Given the description of an element on the screen output the (x, y) to click on. 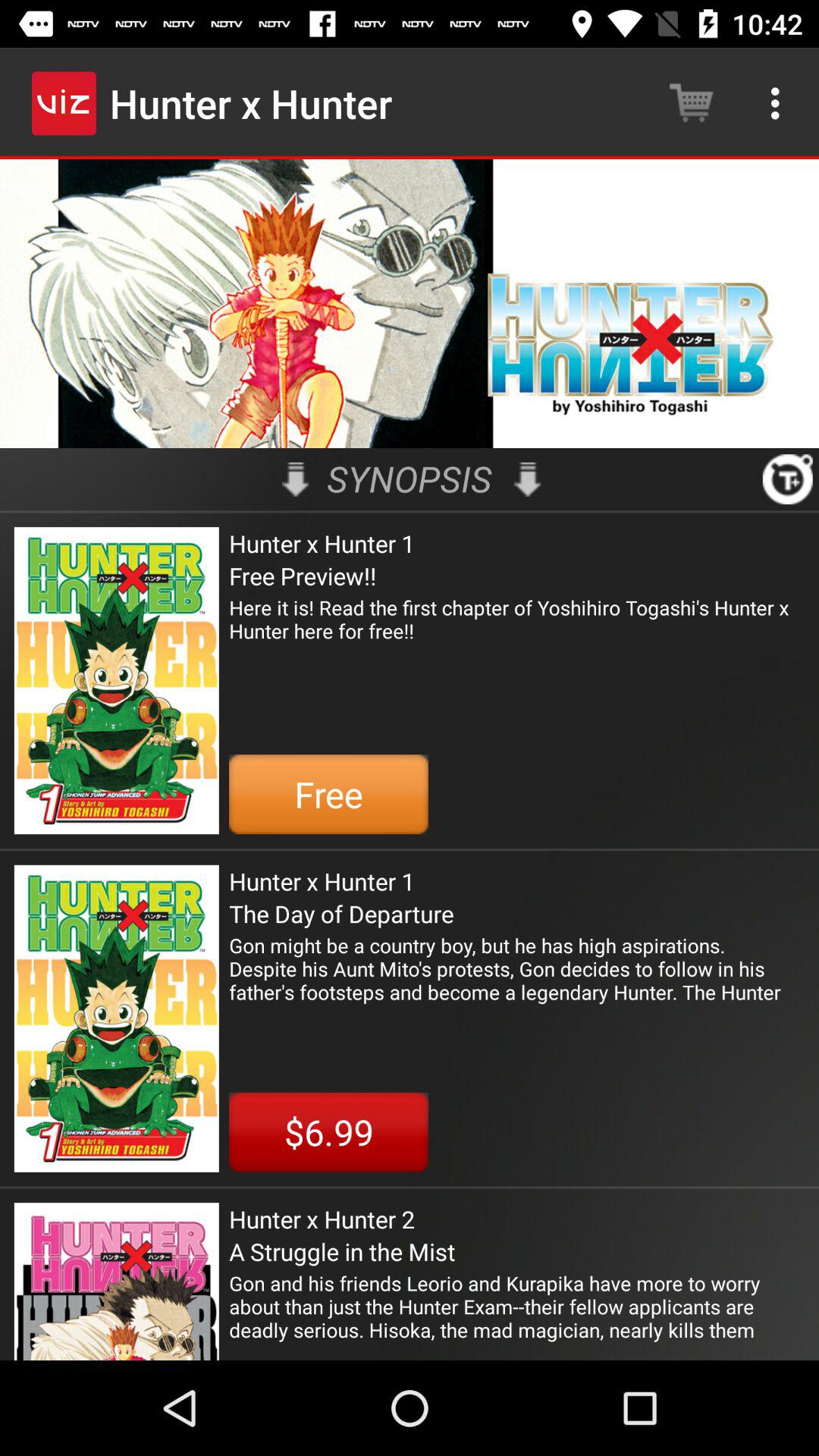
select the icon above the synopsis (409, 303)
